Given the description of an element on the screen output the (x, y) to click on. 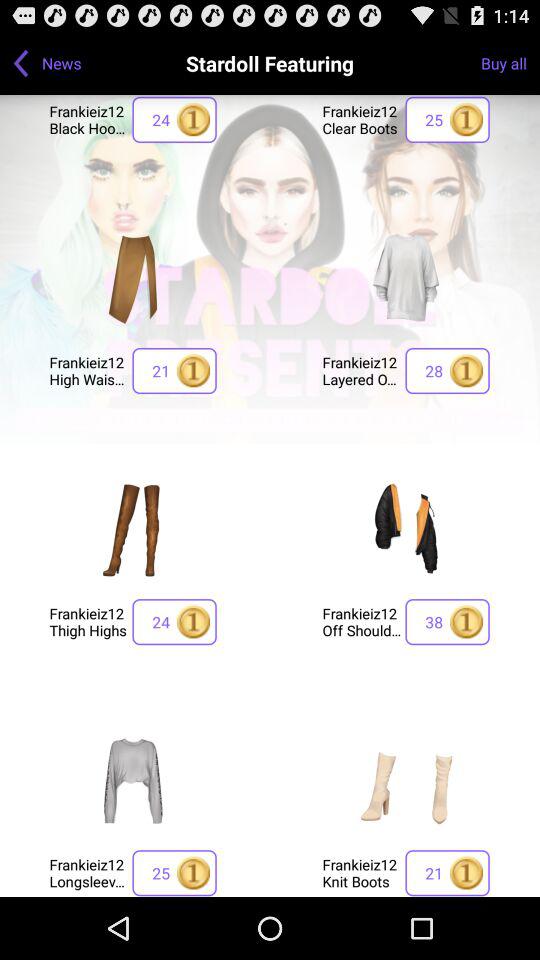
view item (406, 780)
